Given the description of an element on the screen output the (x, y) to click on. 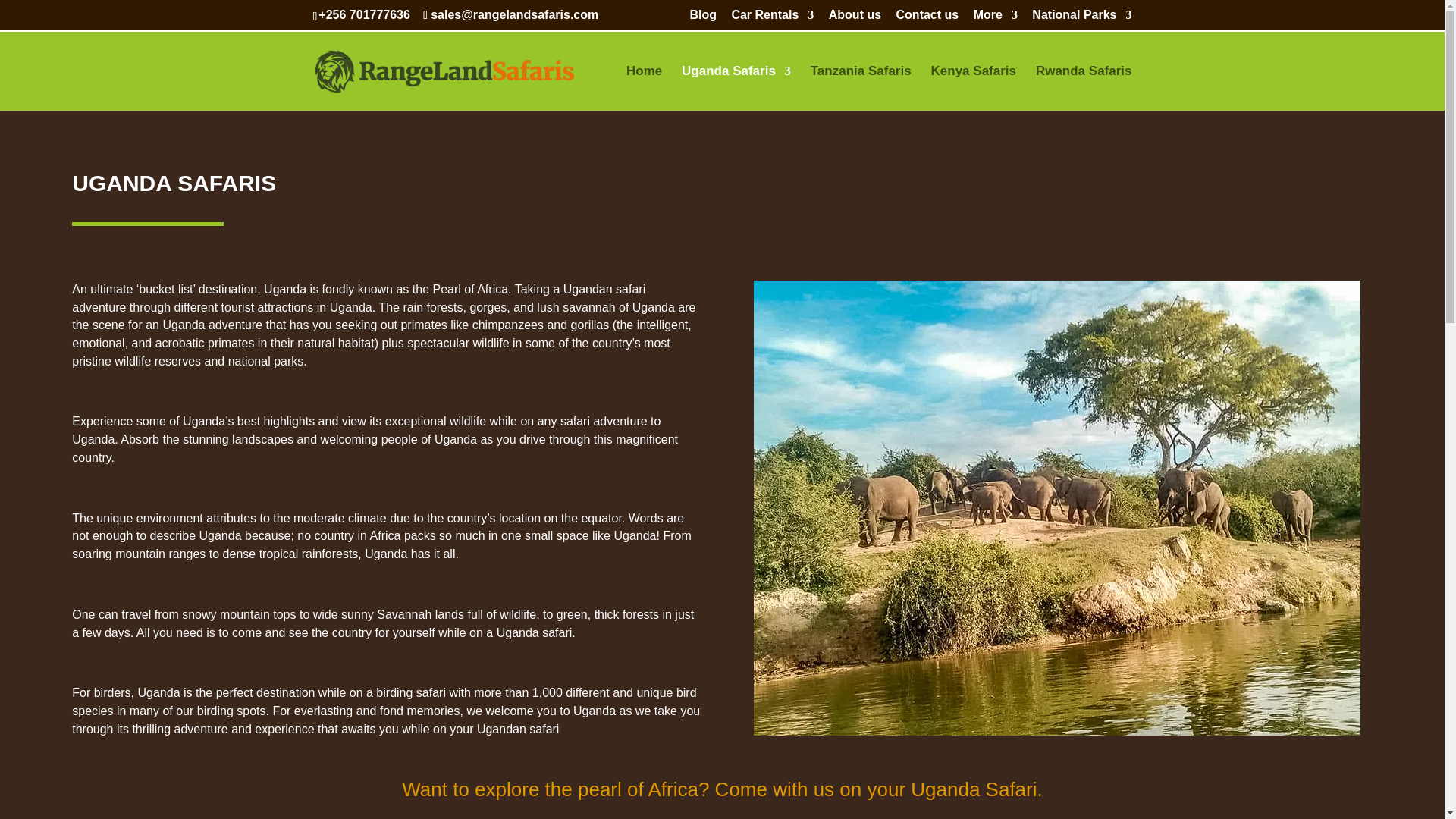
Rwanda Safaris (1083, 88)
Home (644, 88)
Contact us (927, 19)
Tanzania Safaris (860, 88)
Blog (702, 19)
National Parks (1081, 19)
About us (854, 19)
More (995, 19)
Uganda Safaris (735, 88)
Kenya Safaris (973, 88)
Car Rentals (771, 19)
